Given the description of an element on the screen output the (x, y) to click on. 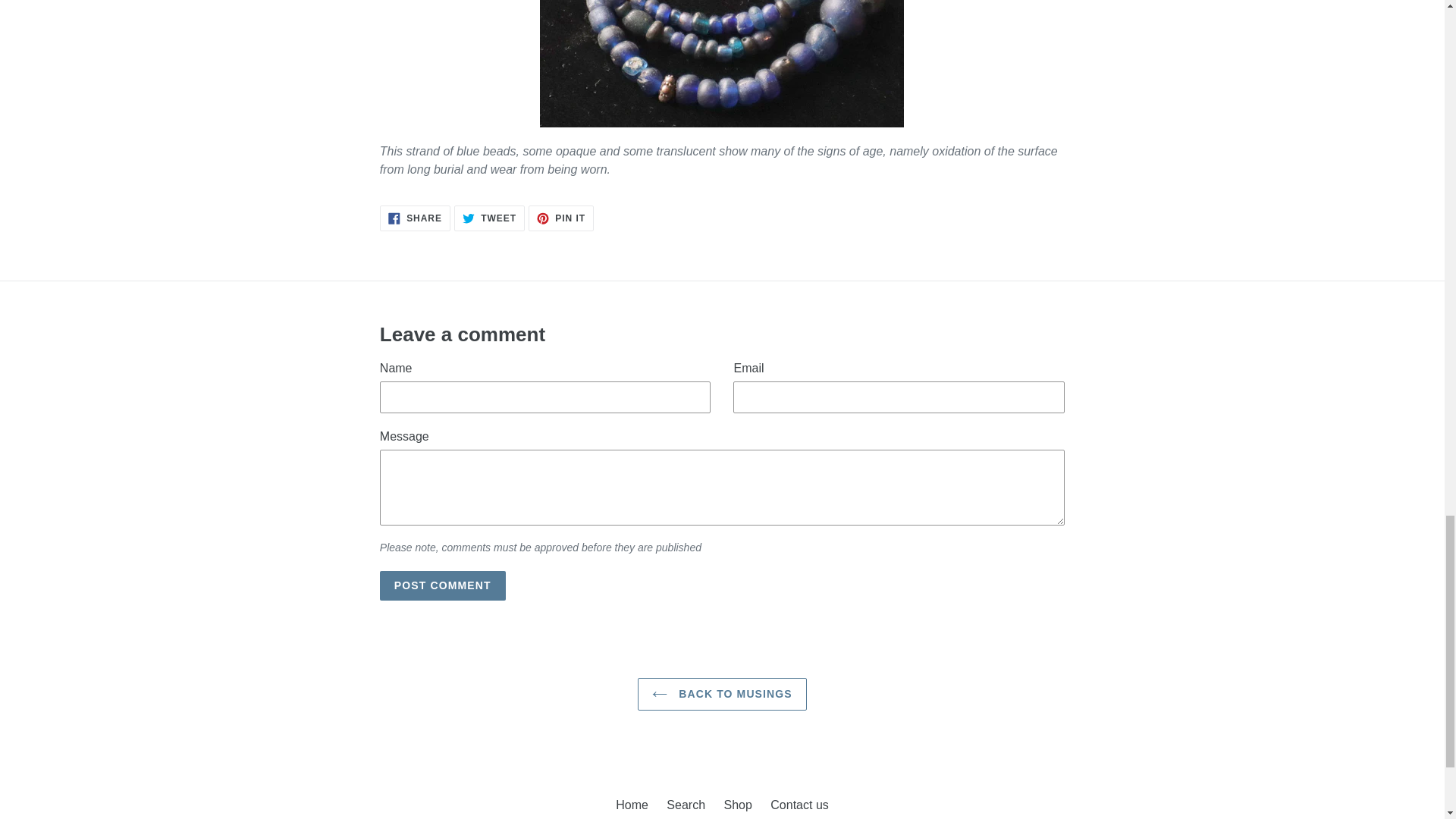
BACK TO MUSINGS (489, 217)
Post comment (721, 694)
Home (442, 585)
Search (561, 217)
Shop (631, 804)
Contact us (685, 804)
Post comment (737, 804)
